Given the description of an element on the screen output the (x, y) to click on. 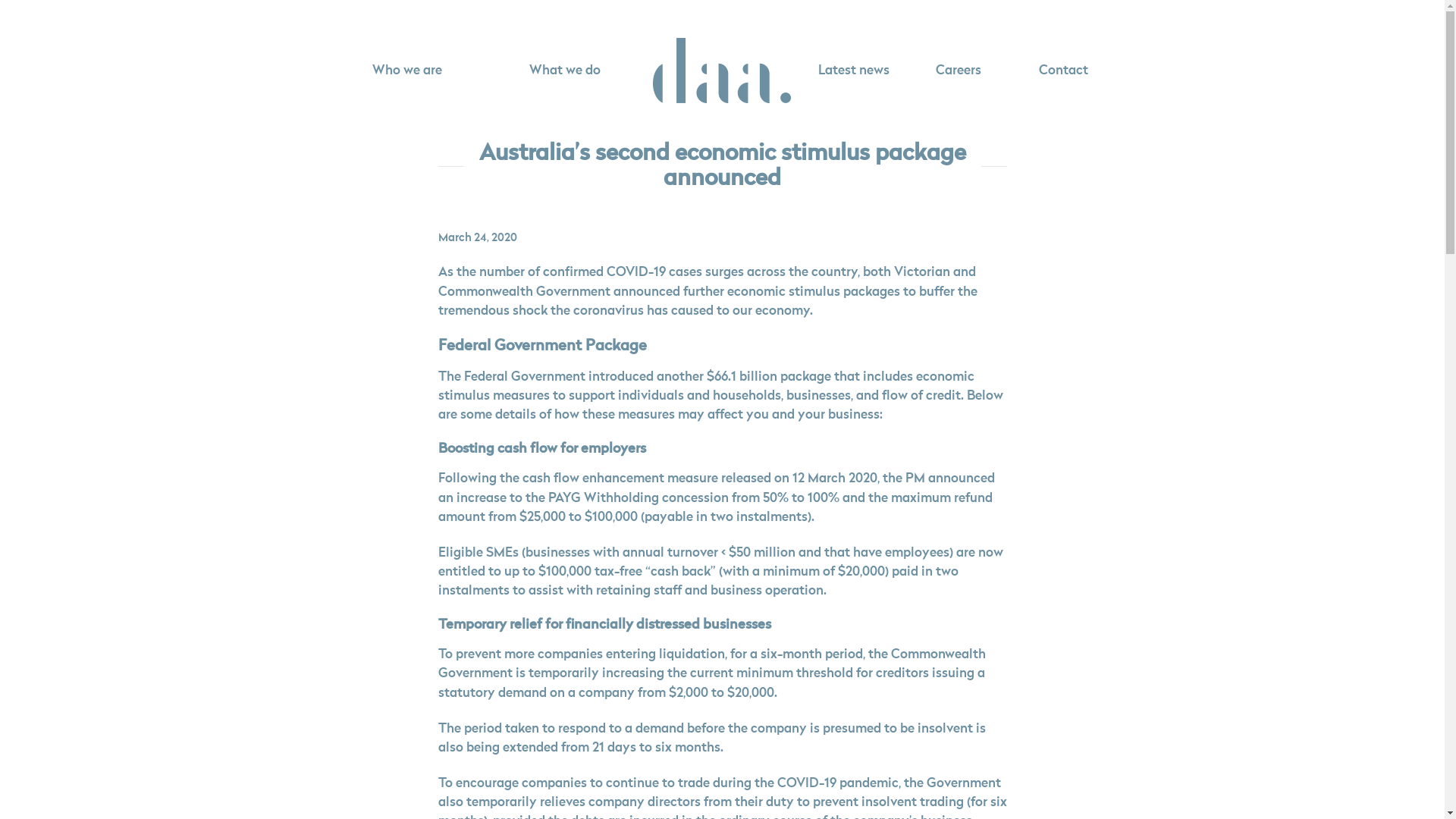
Daniel Allison & Associates Element type: hover (721, 70)
Contact Element type: text (1062, 70)
Careers Element type: text (958, 70)
Latest news Element type: text (852, 70)
Who we are Element type: text (406, 70)
What we do Element type: text (563, 70)
